Given the description of an element on the screen output the (x, y) to click on. 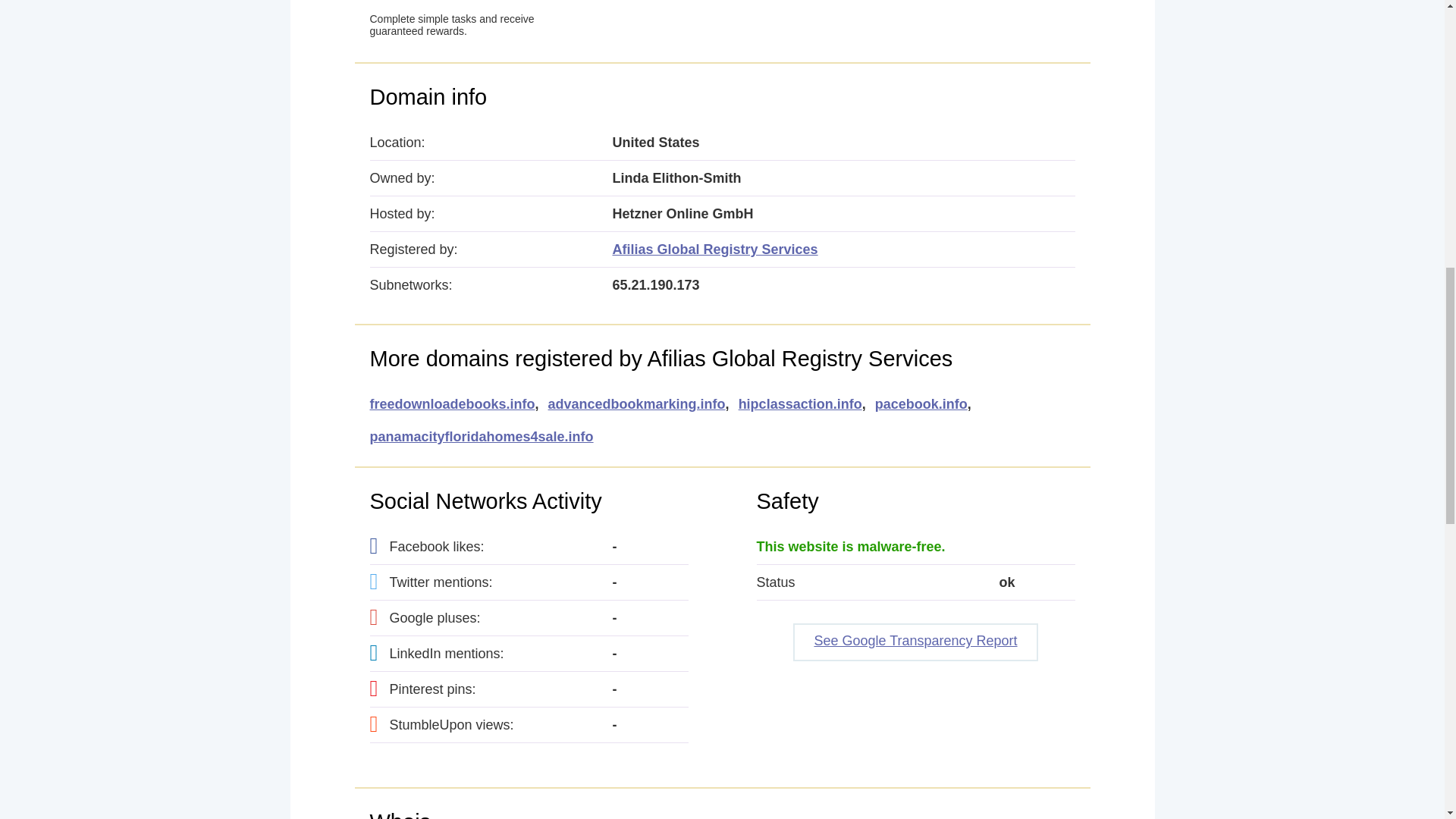
pacebook.info (921, 404)
freedownloadebooks.info (452, 404)
See Google Transparency Report (914, 641)
advancedbookmarking.info (636, 404)
hipclassaction.info (799, 404)
panamacityfloridahomes4sale.info (481, 437)
Afilias Global Registry Services (715, 249)
